Given the description of an element on the screen output the (x, y) to click on. 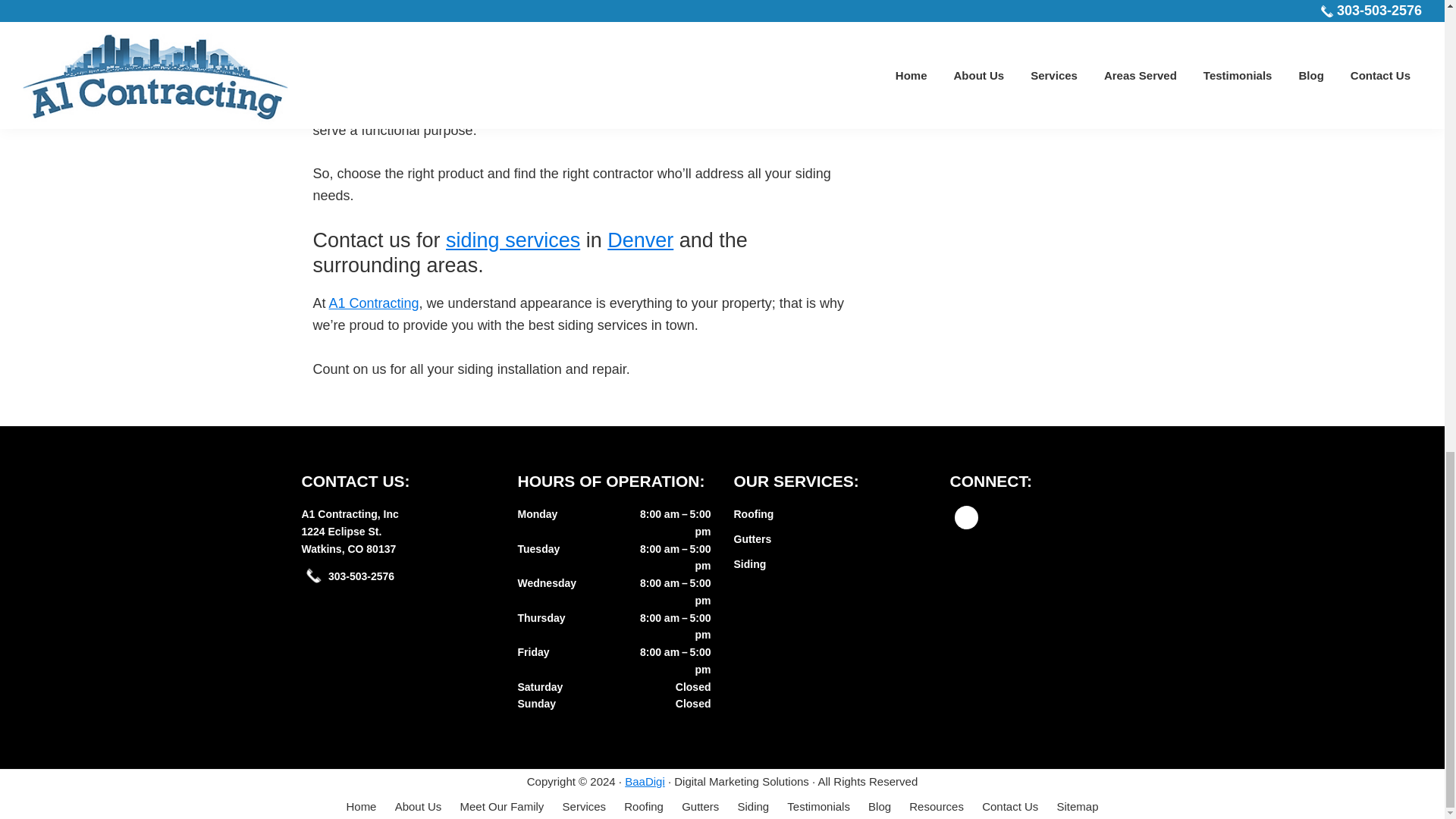
303-503-2576 (361, 576)
A1 Contracting, Inc (348, 540)
Home (349, 513)
siding services (360, 806)
Roofing (512, 240)
Siding (753, 513)
Roofing (750, 563)
Gutters (643, 806)
A1 Contracting (752, 539)
